Given the description of an element on the screen output the (x, y) to click on. 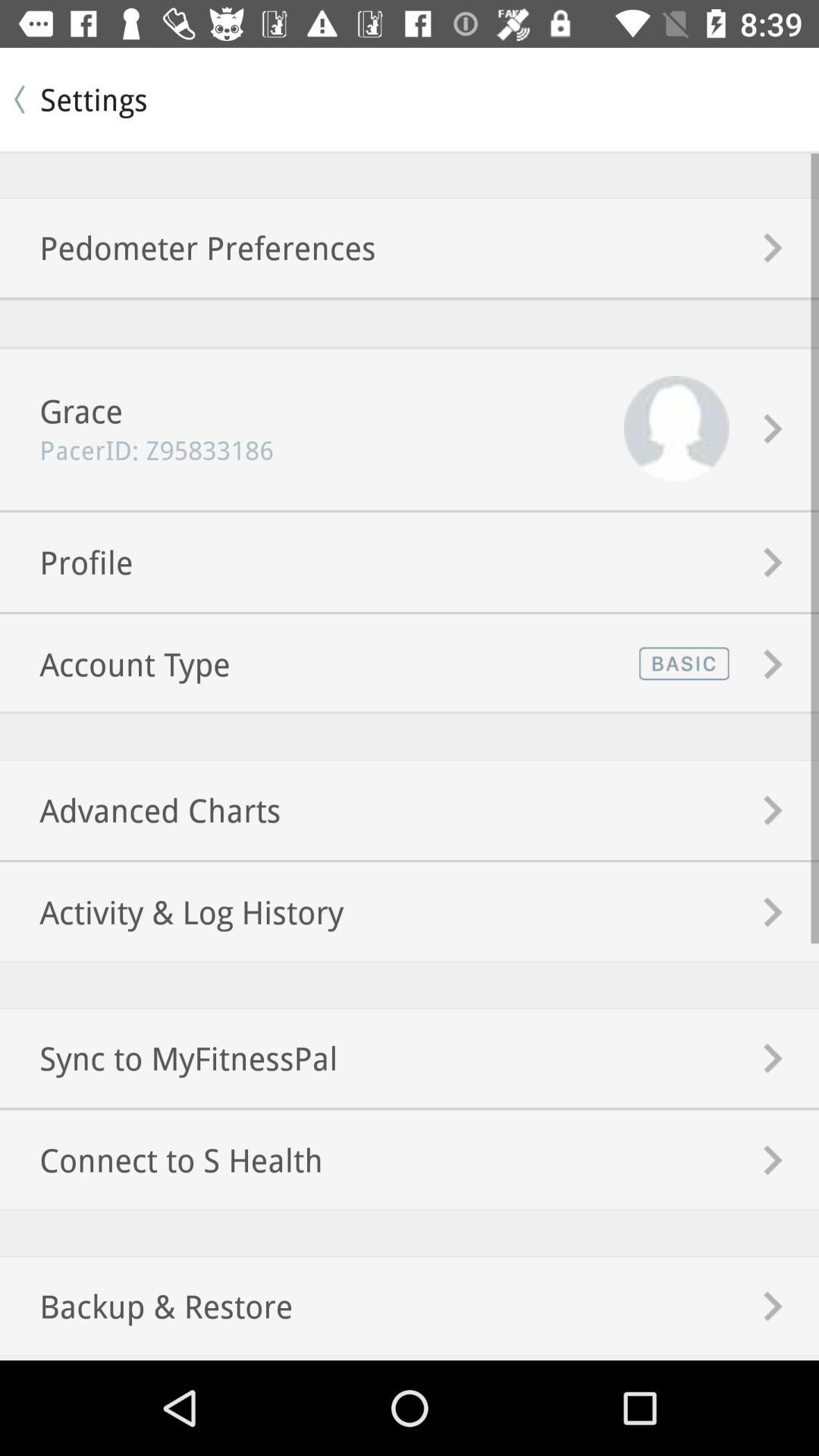
scroll to advanced charts (140, 809)
